Given the description of an element on the screen output the (x, y) to click on. 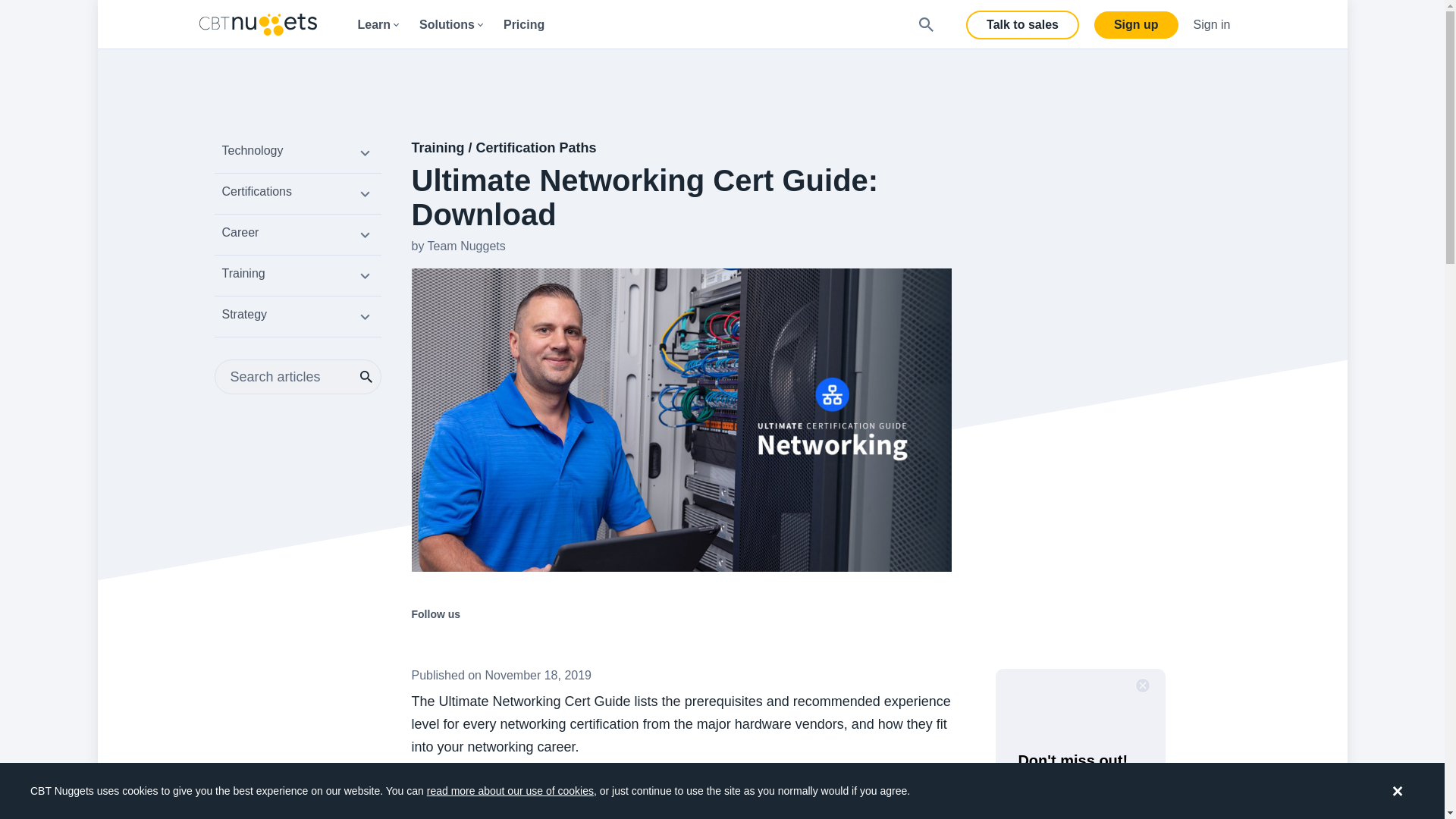
Sign in (1211, 24)
Solutions (451, 24)
Technology (297, 154)
read more about our use of cookies (510, 790)
Pricing (523, 24)
Talk to sales (1022, 24)
Learn (378, 24)
Sign up (1135, 23)
